Given the description of an element on the screen output the (x, y) to click on. 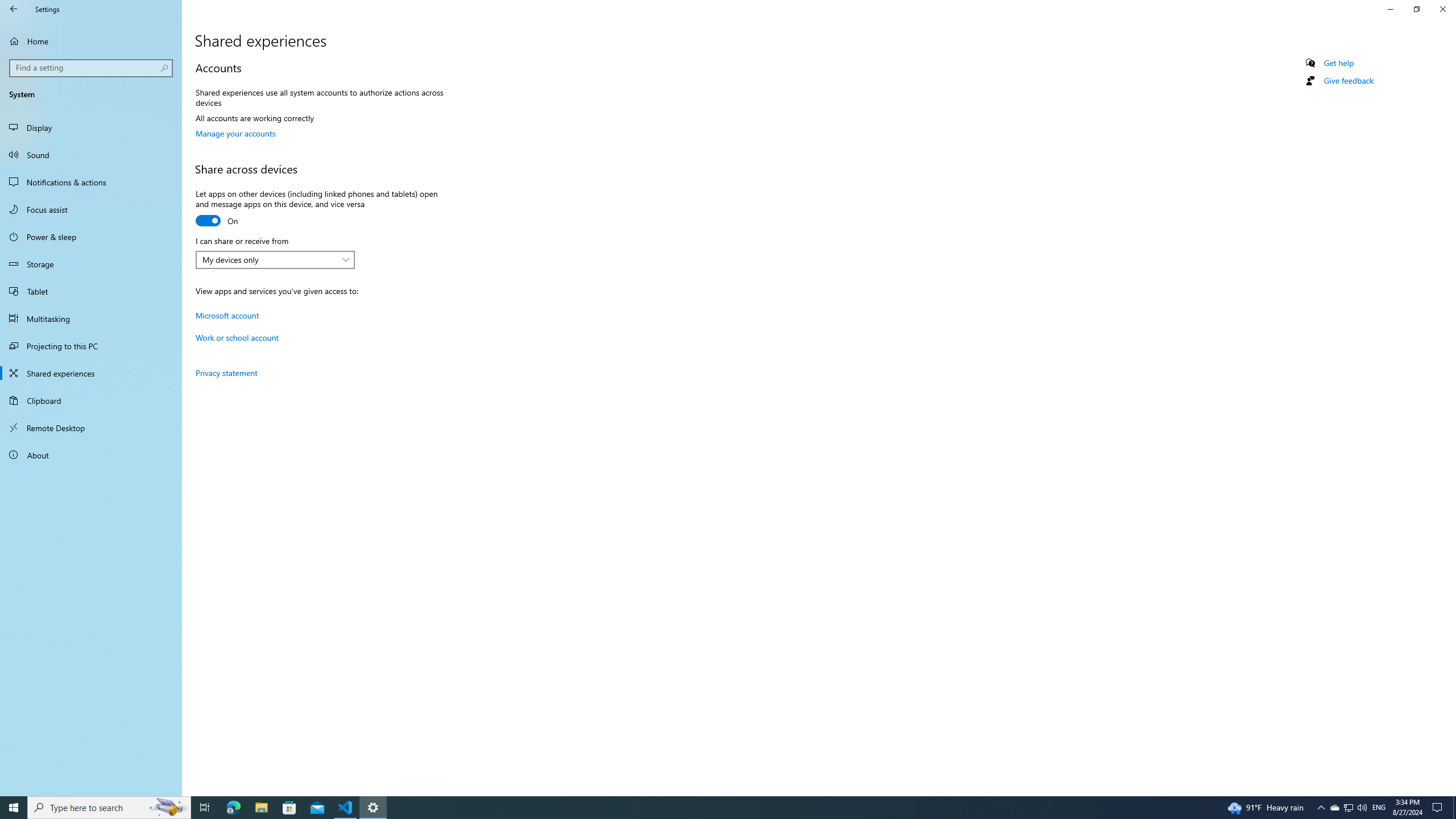
I can share or receive from (275, 259)
Minimize Settings (1390, 9)
About (91, 454)
Close Settings (1347, 807)
Projecting to this PC (1442, 9)
Task View (91, 345)
Storage (204, 807)
Start (91, 263)
Microsoft Edge (13, 807)
Search box, Find a setting (233, 807)
Power & sleep (91, 67)
Microsoft account (91, 236)
